Given the description of an element on the screen output the (x, y) to click on. 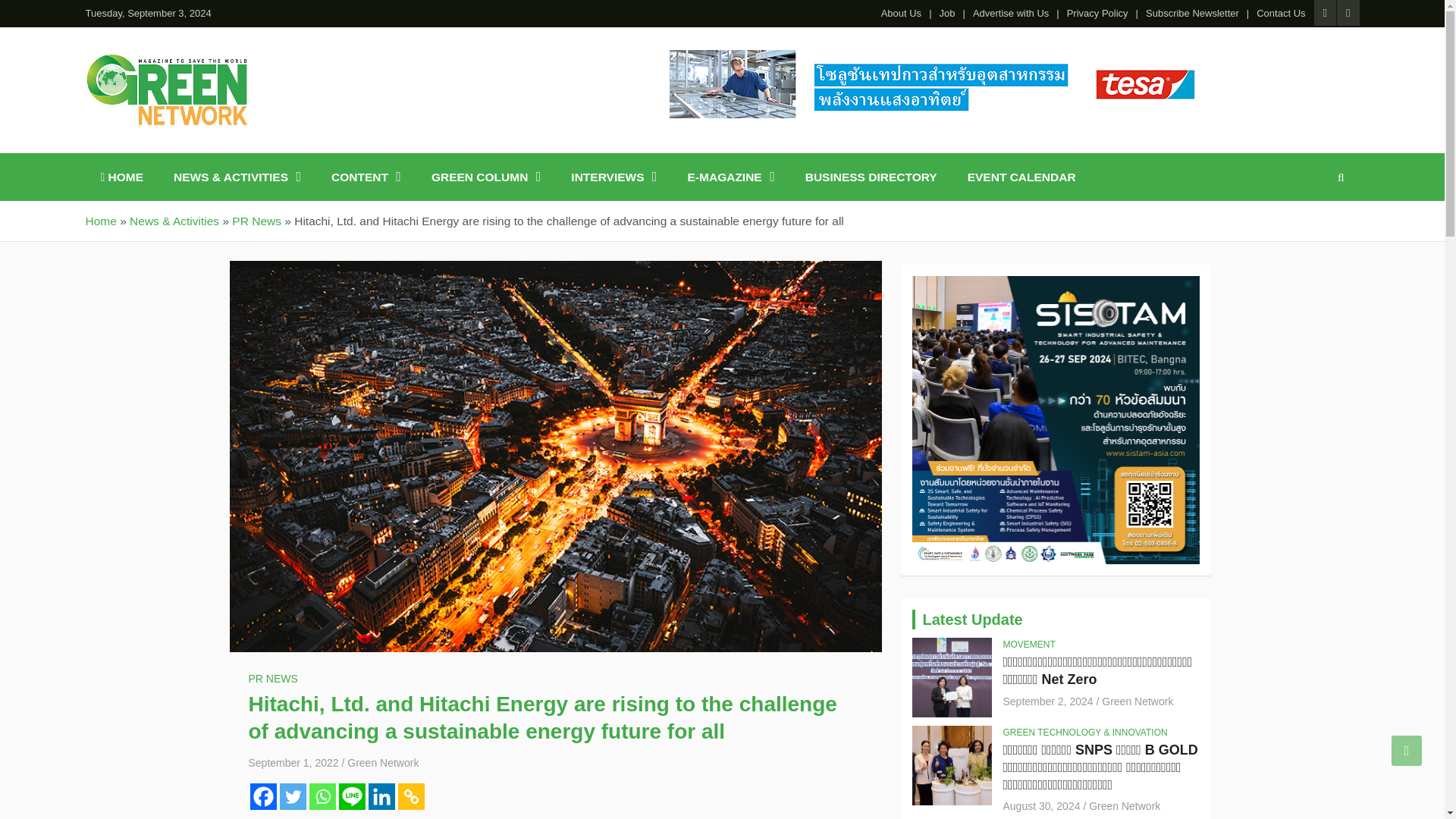
Whatsapp (322, 795)
Twitter (292, 795)
Subscribe Newsletter (1192, 13)
Copy Link (410, 795)
Facebook (263, 795)
Privacy Policy (1097, 13)
Line (351, 795)
About Us (900, 13)
PR News (256, 220)
GREEN COLUMN (486, 176)
